Given the description of an element on the screen output the (x, y) to click on. 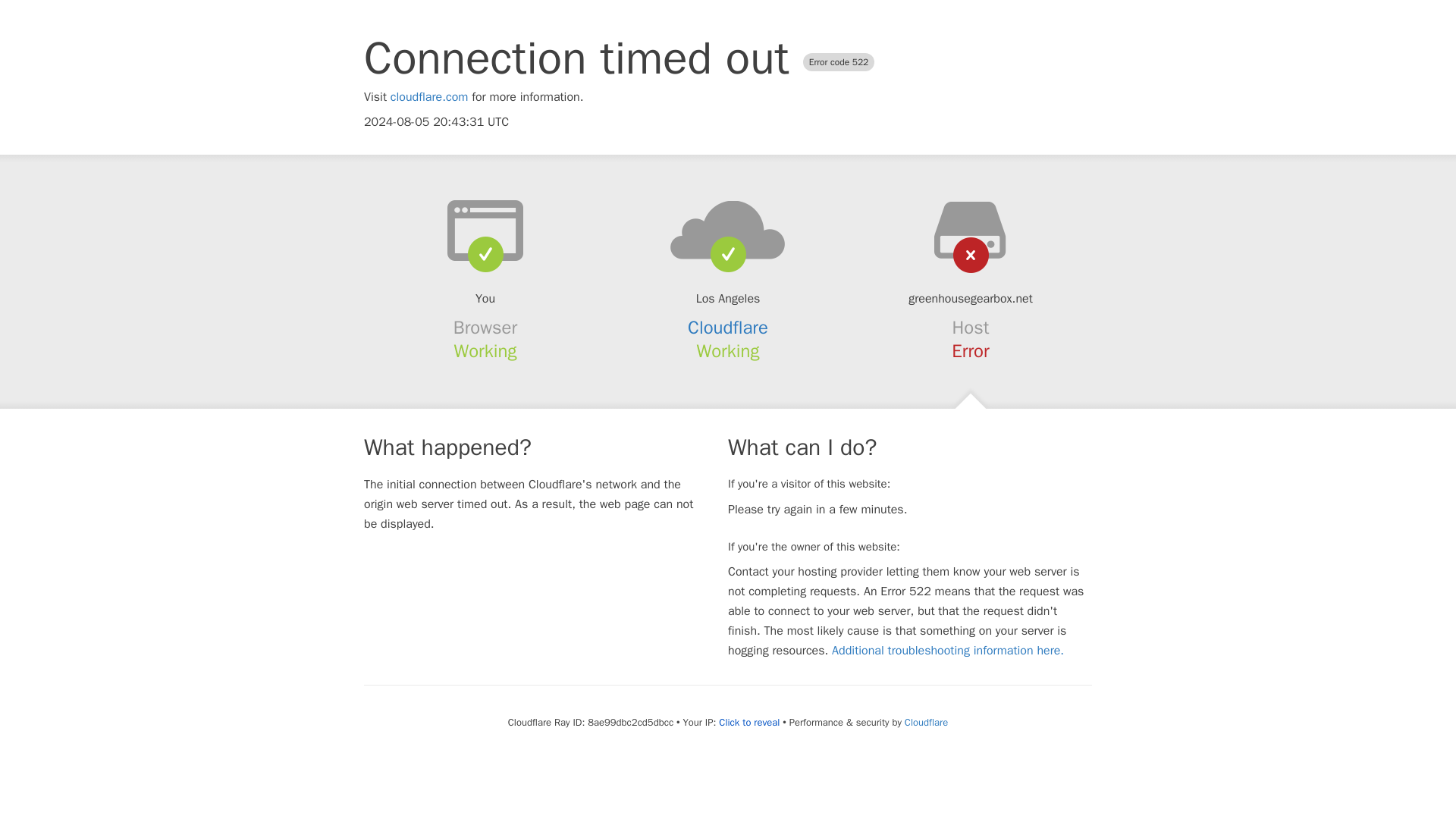
Cloudflare (925, 721)
cloudflare.com (429, 96)
Cloudflare (727, 327)
Click to reveal (748, 722)
Additional troubleshooting information here. (947, 650)
